Given the description of an element on the screen output the (x, y) to click on. 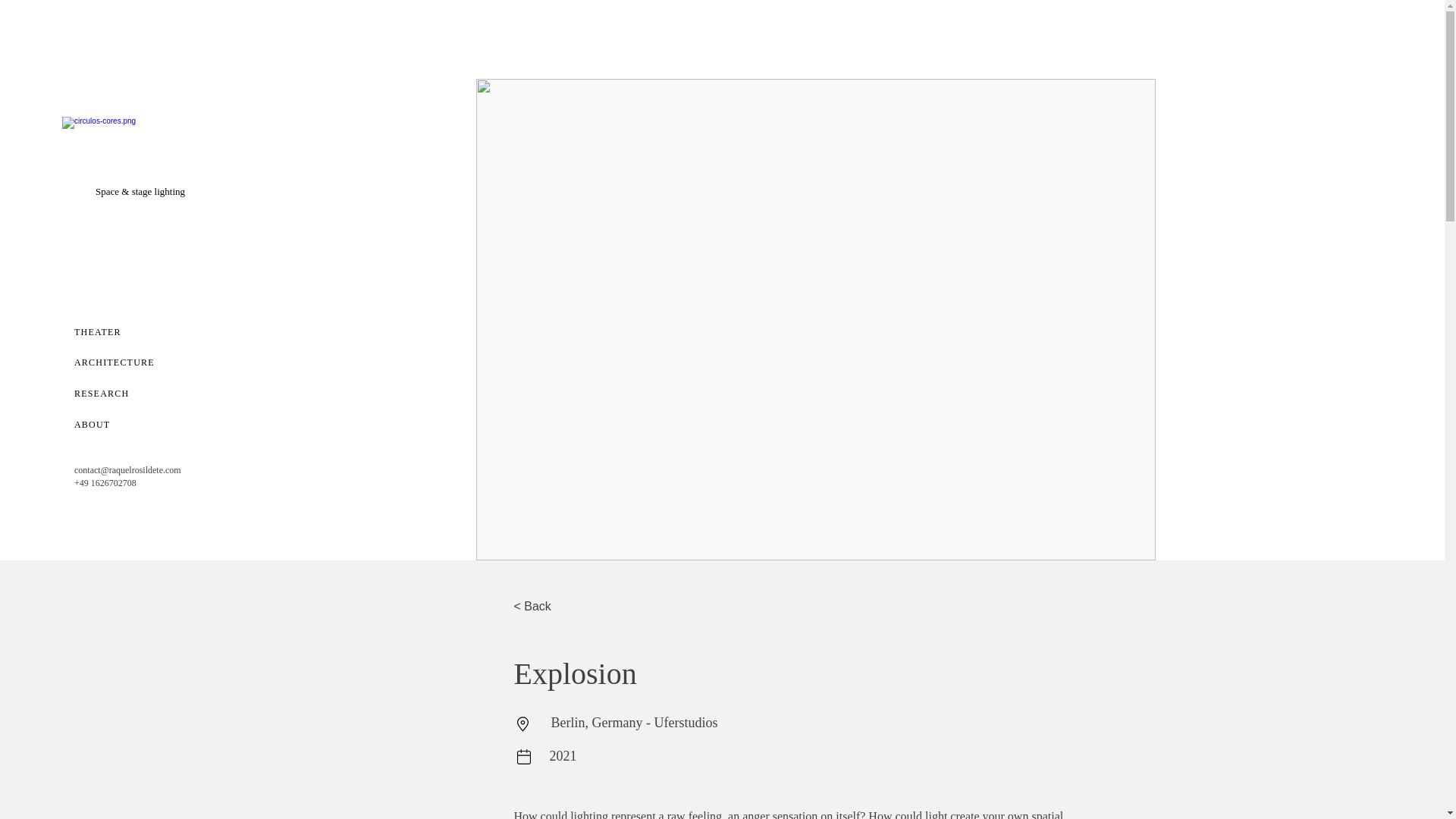
RESEARCH (114, 393)
ARCHITECTURE (125, 362)
THEATER (106, 331)
Screen Shot 2023-01-06 at 17.48.57.png (135, 148)
ABOUT (108, 424)
